Given the description of an element on the screen output the (x, y) to click on. 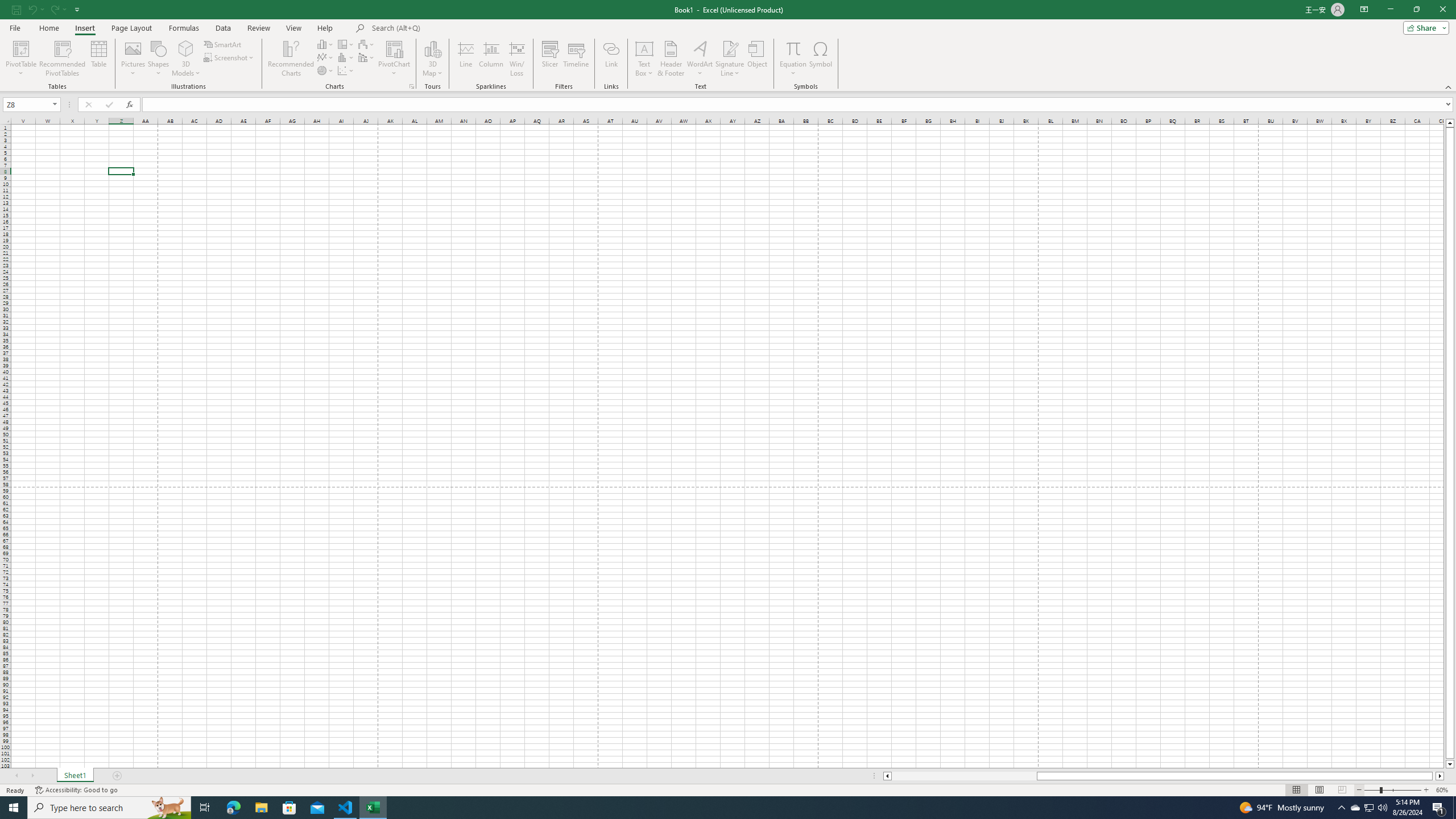
Insert Combo Chart (366, 56)
Win/Loss (516, 58)
Insert Statistic Chart (346, 56)
Insert Scatter (X, Y) or Bubble Chart (346, 69)
Shapes (158, 58)
Recommended PivotTables (62, 58)
